Given the description of an element on the screen output the (x, y) to click on. 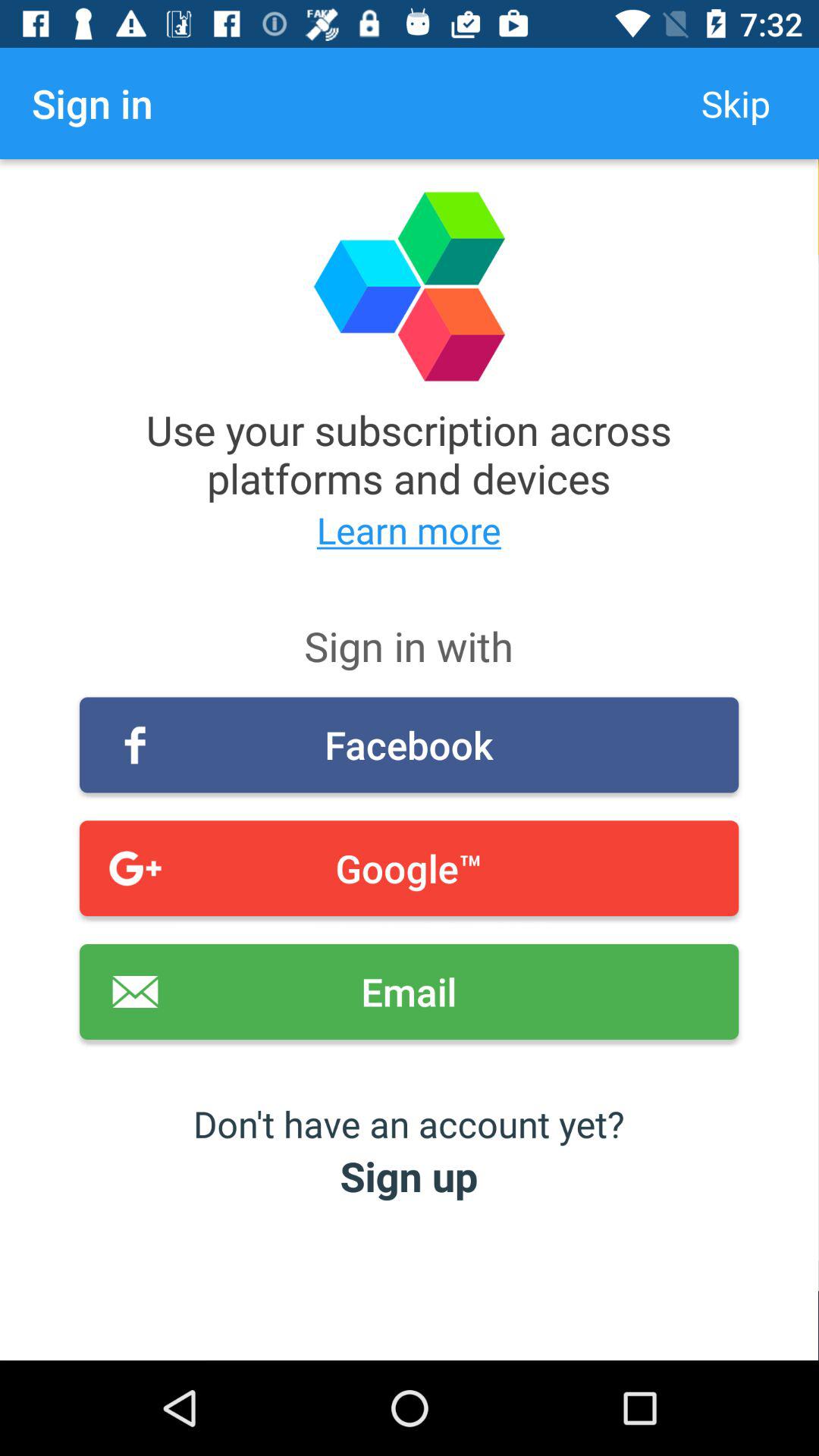
turn off icon above the don t have item (408, 991)
